Given the description of an element on the screen output the (x, y) to click on. 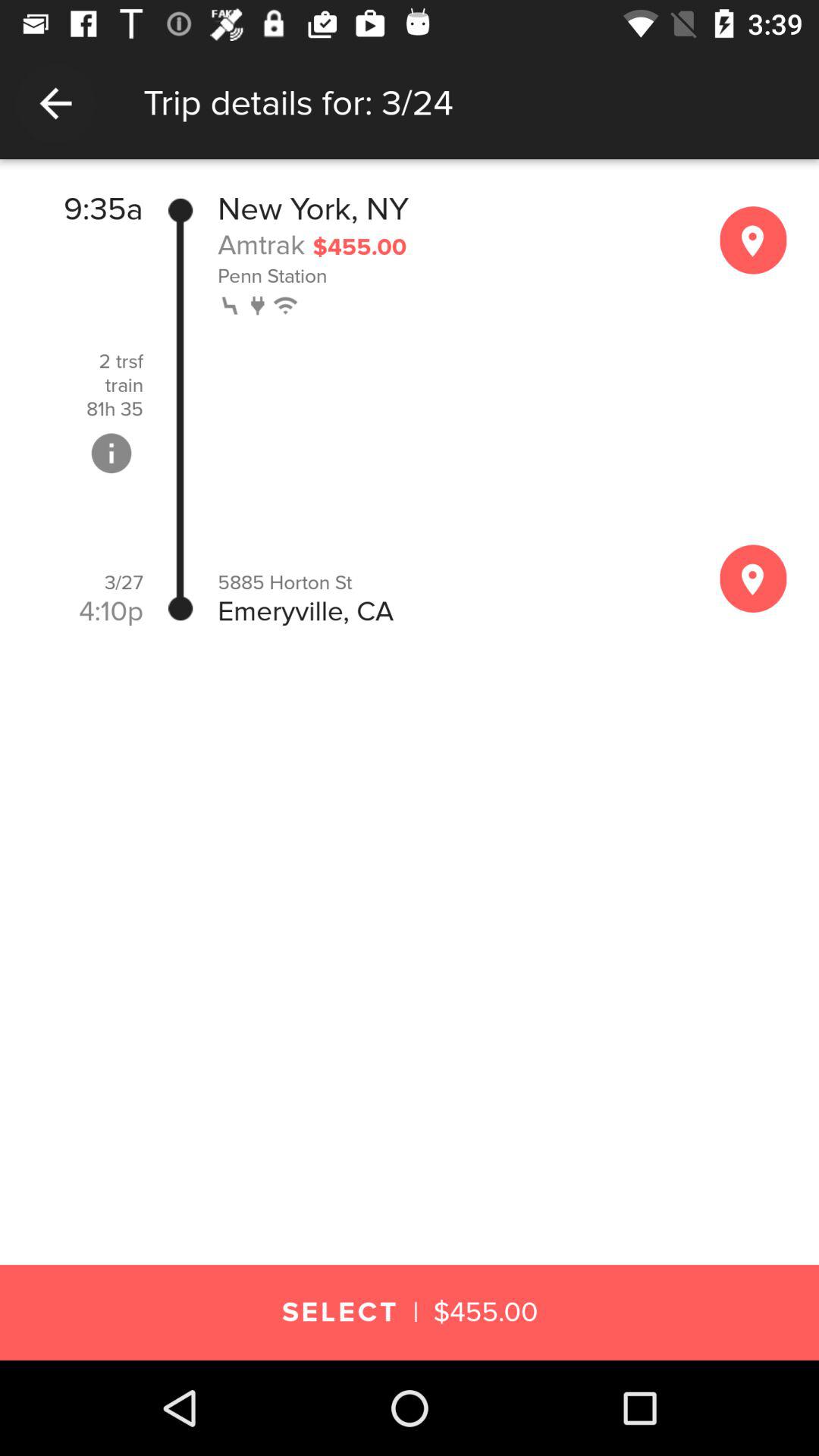
turn off the 4:10p (111, 611)
